Given the description of an element on the screen output the (x, y) to click on. 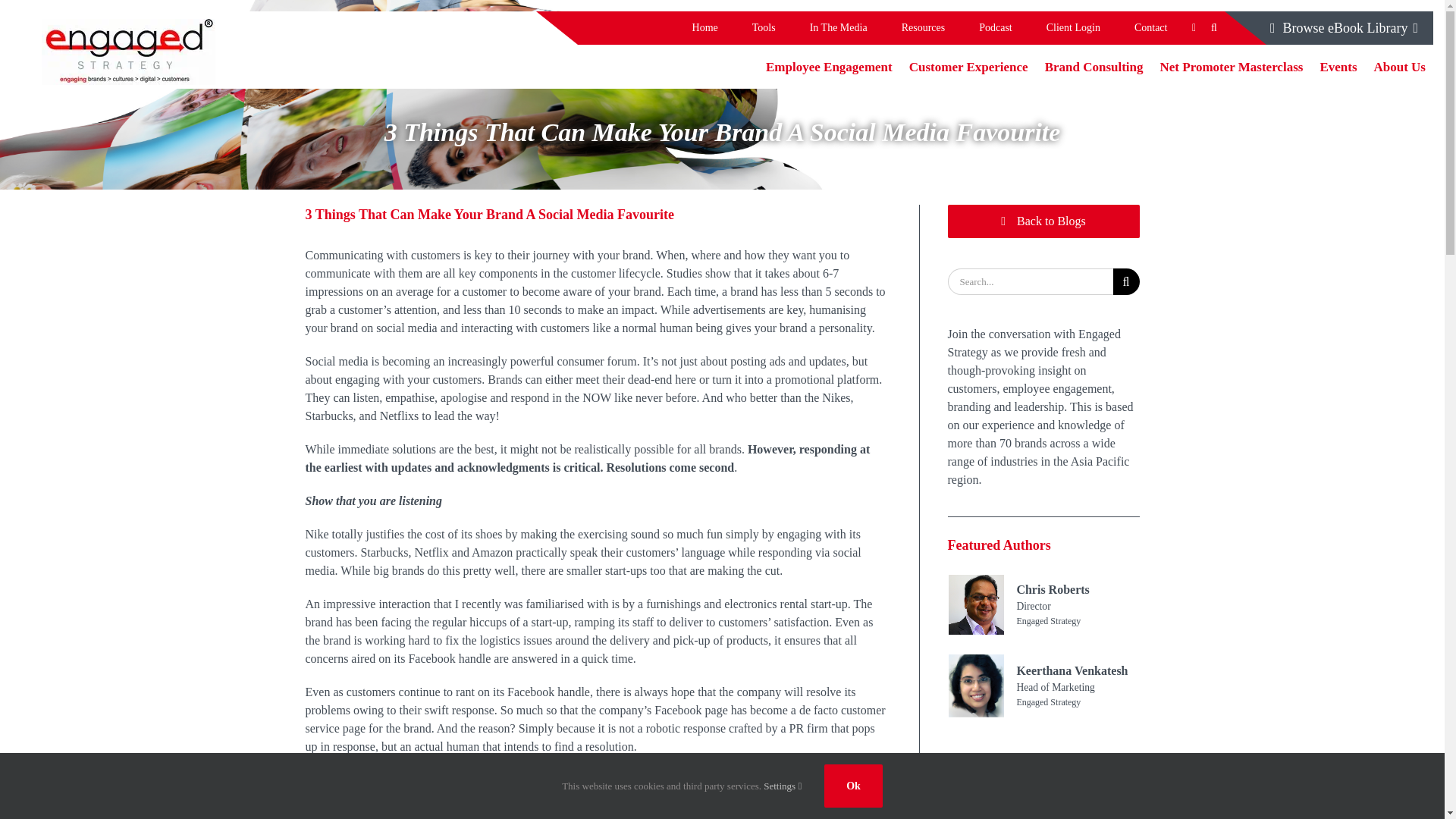
Resources (922, 28)
Tools (763, 28)
In The Media (837, 28)
Strategy Edge Podcast (995, 28)
Browse eBook Library (1343, 28)
Home (705, 28)
